Given the description of an element on the screen output the (x, y) to click on. 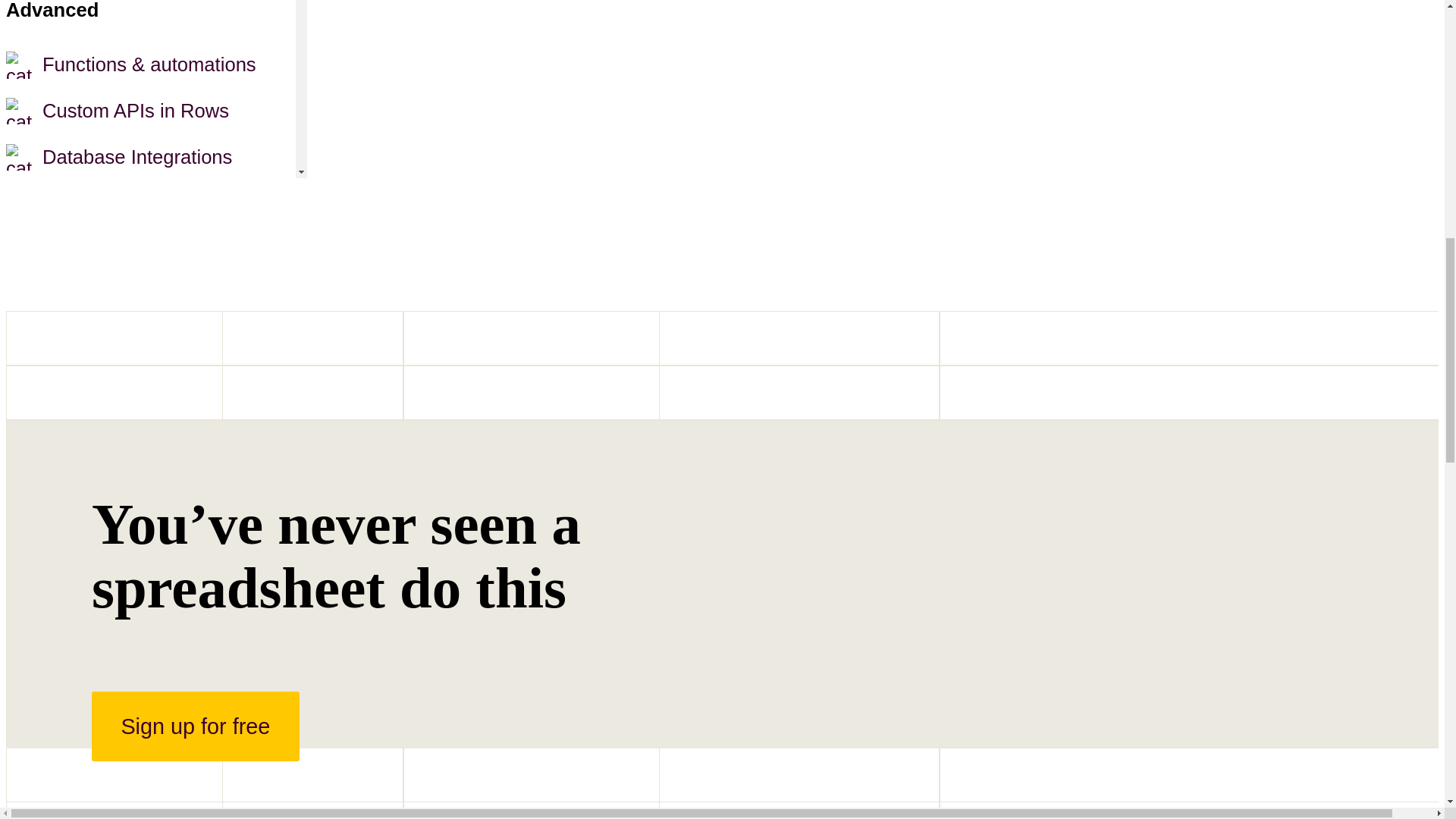
Rows API (150, 249)
Custom APIs in Rows (150, 110)
Rows Connectors (150, 203)
Database Integrations (150, 157)
